Given the description of an element on the screen output the (x, y) to click on. 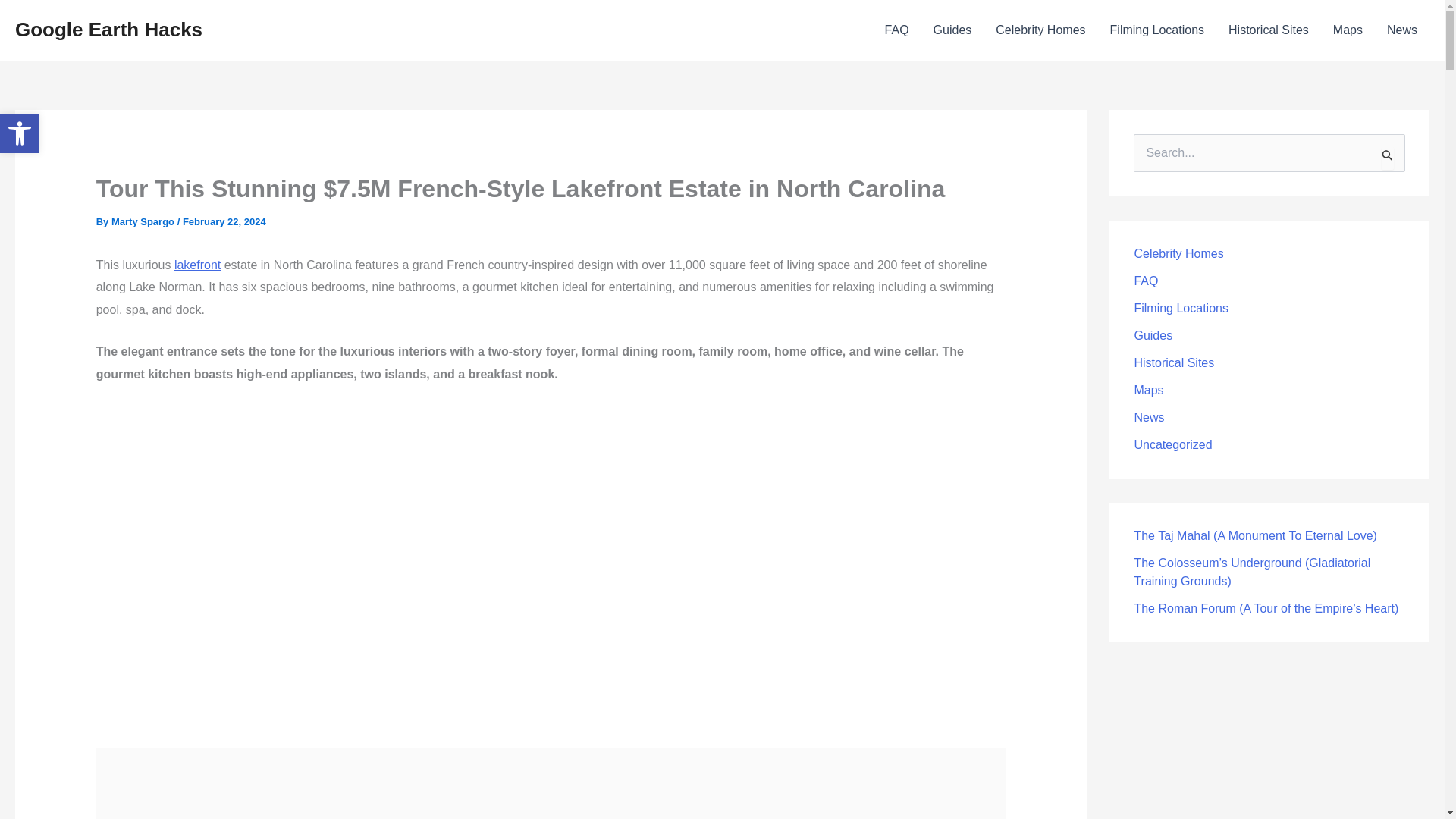
Maps (1347, 30)
Marty Spargo (144, 221)
Search (1388, 155)
Accessibility Tools (19, 133)
View all posts by Marty Spargo (144, 221)
Google Earth Hacks (108, 29)
Search (1388, 155)
FAQ (896, 30)
Celebrity Homes (1040, 30)
Guides (952, 30)
